Given the description of an element on the screen output the (x, y) to click on. 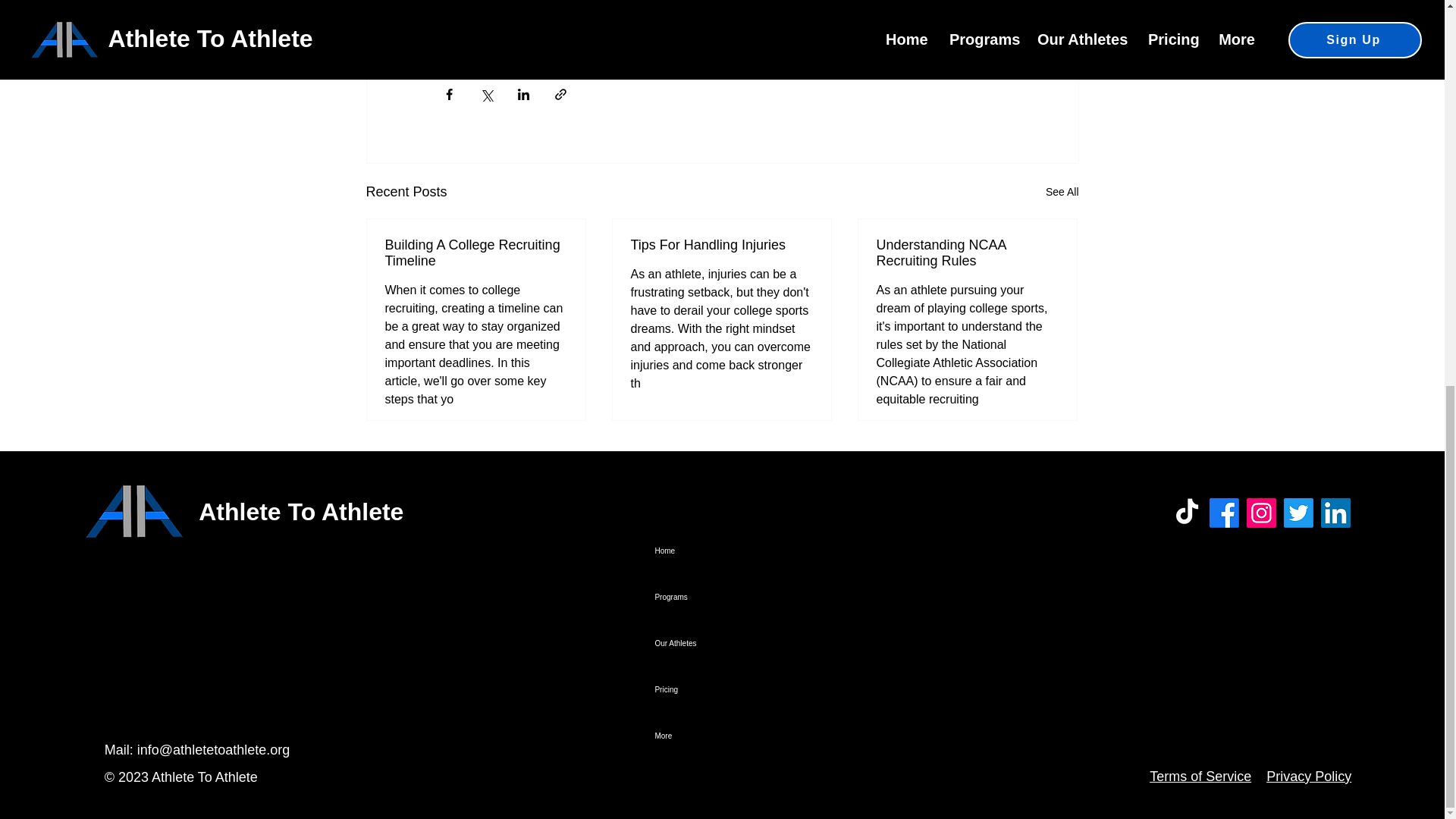
Pricing (749, 689)
Athlete To Athlete Logo "It Goes Beyond The Game" (133, 512)
See All (1061, 191)
Our Athletes (749, 642)
Building A College Recruiting Timeline (476, 253)
Privacy Policy (1308, 776)
Understanding NCAA Recruiting Rules (967, 253)
Programs (749, 596)
Terms of Service (1200, 776)
Home (749, 550)
Tips For Handling Injuries (721, 245)
